Given the description of an element on the screen output the (x, y) to click on. 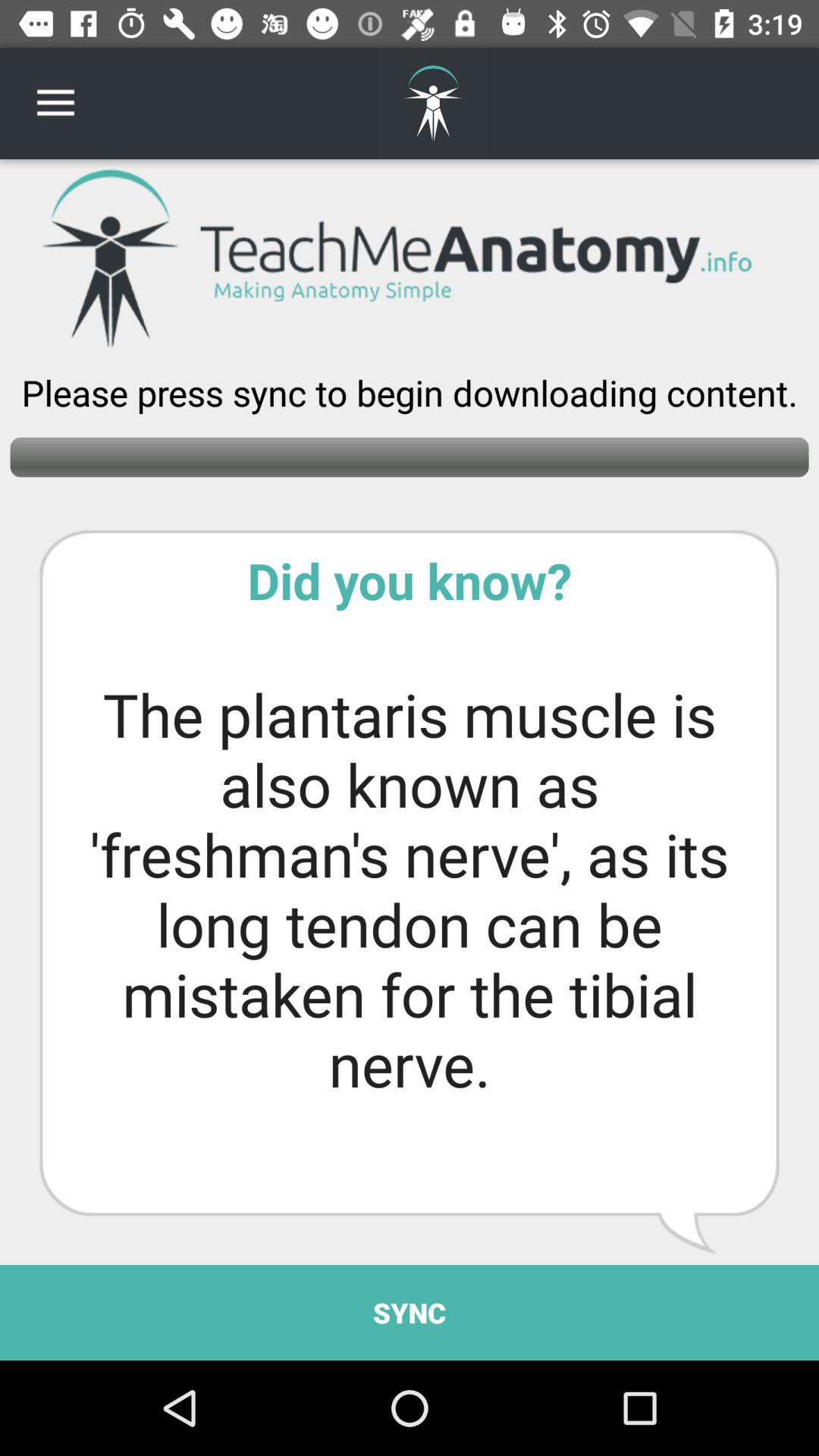
press item at the top right corner (771, 103)
